Given the description of an element on the screen output the (x, y) to click on. 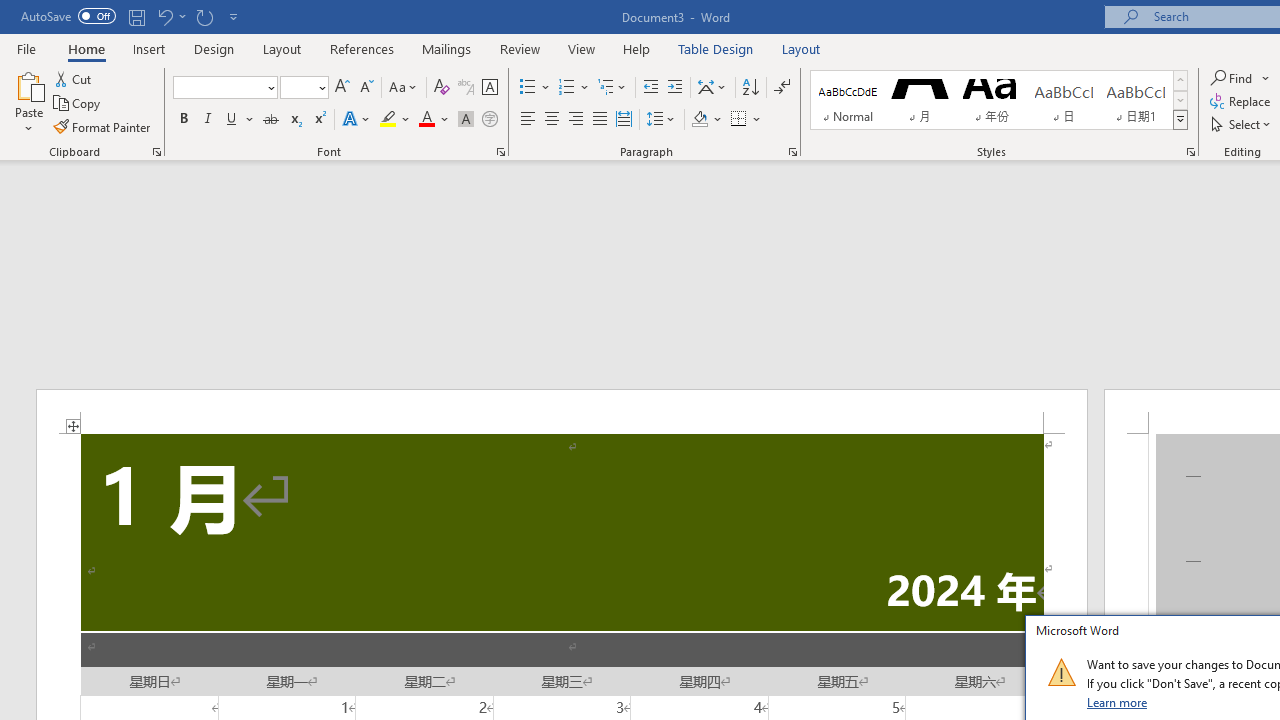
Repeat Style (204, 15)
